Given the description of an element on the screen output the (x, y) to click on. 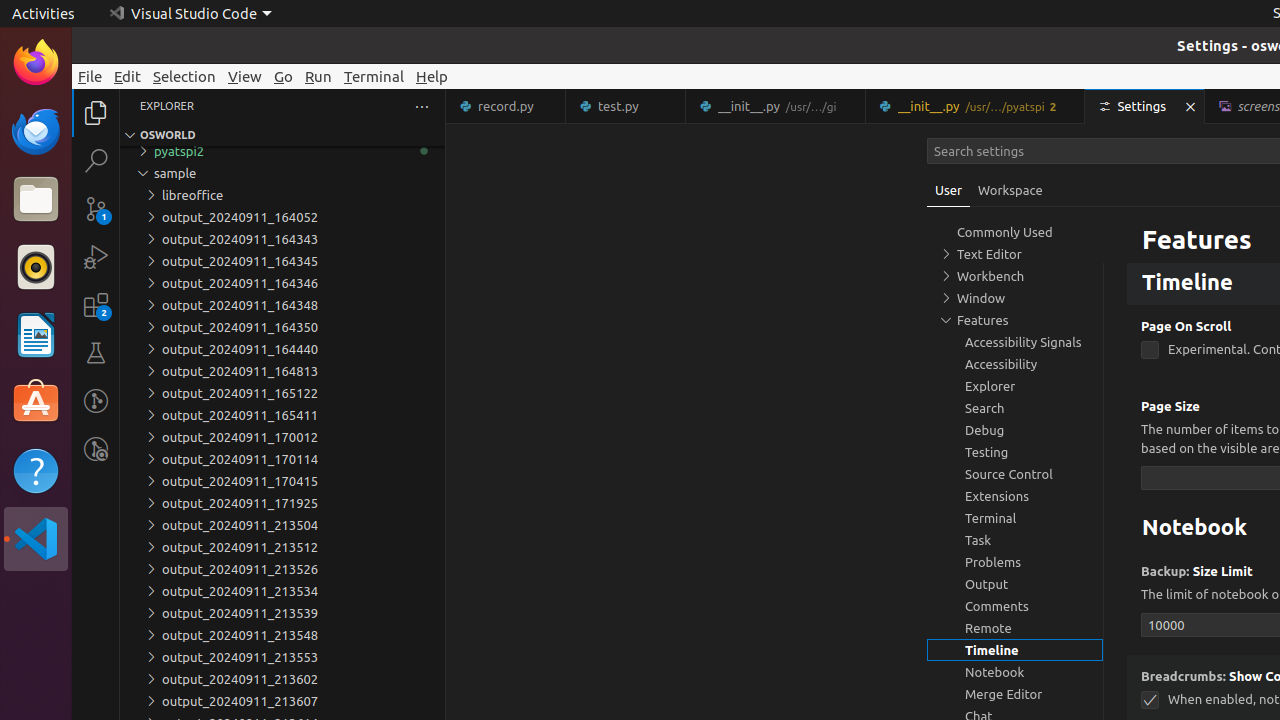
Comments, group Element type: tree-item (1015, 606)
record.py Element type: page-tab (506, 106)
output_20240911_213548 Element type: tree-item (282, 635)
output_20240911_164343 Element type: tree-item (282, 239)
